Given the description of an element on the screen output the (x, y) to click on. 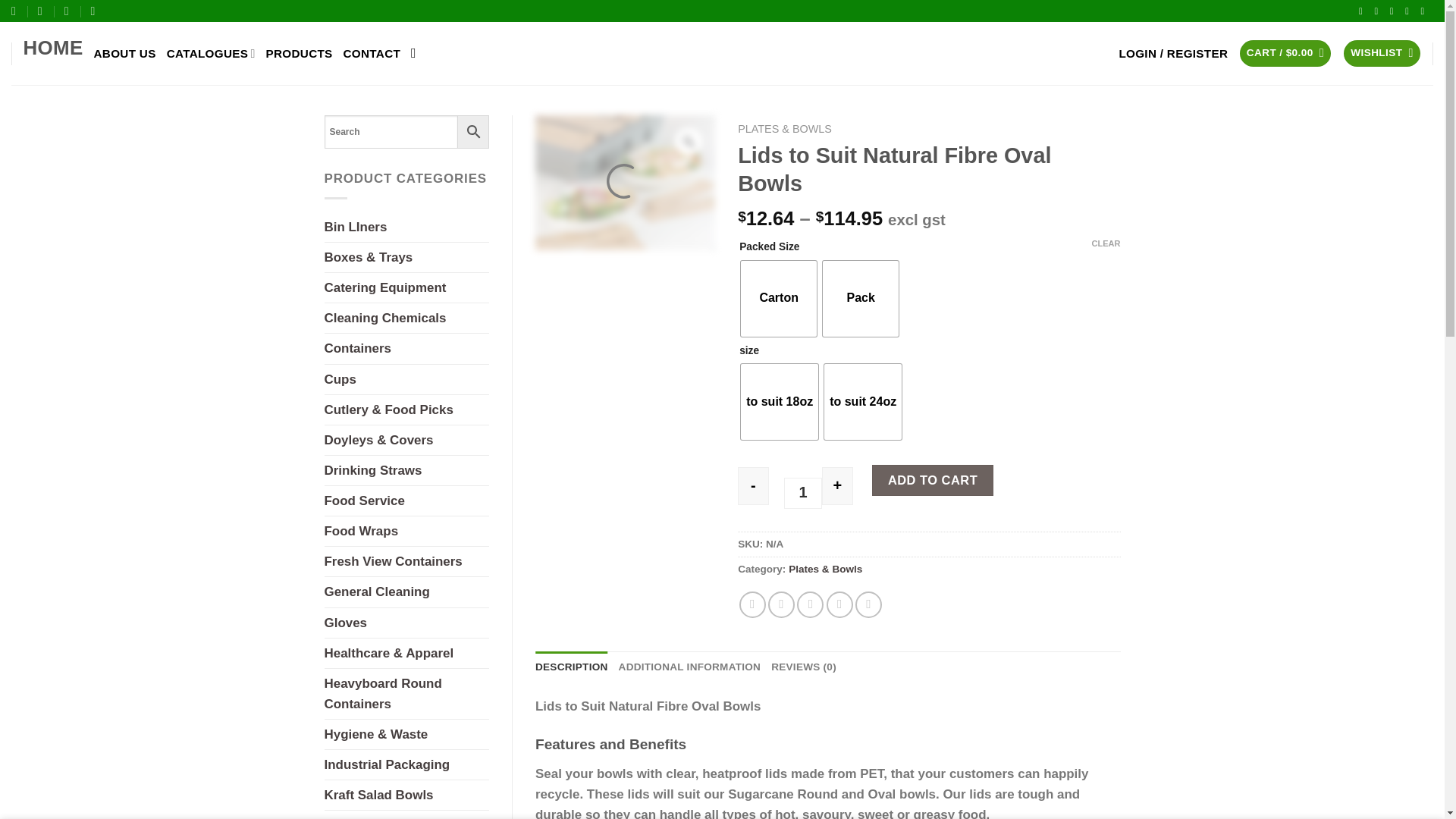
ABOUT US (124, 53)
CONTACT (372, 53)
Bagasse-Oval-Bowls-and-Clear-Lids-2 (624, 182)
Catering Equipment (406, 287)
Bin LIners (406, 226)
Cart (1285, 53)
1 (803, 492)
HOME (52, 52)
PRODUCTS (299, 53)
CATALOGUES (211, 53)
WISHLIST (1382, 53)
